Given the description of an element on the screen output the (x, y) to click on. 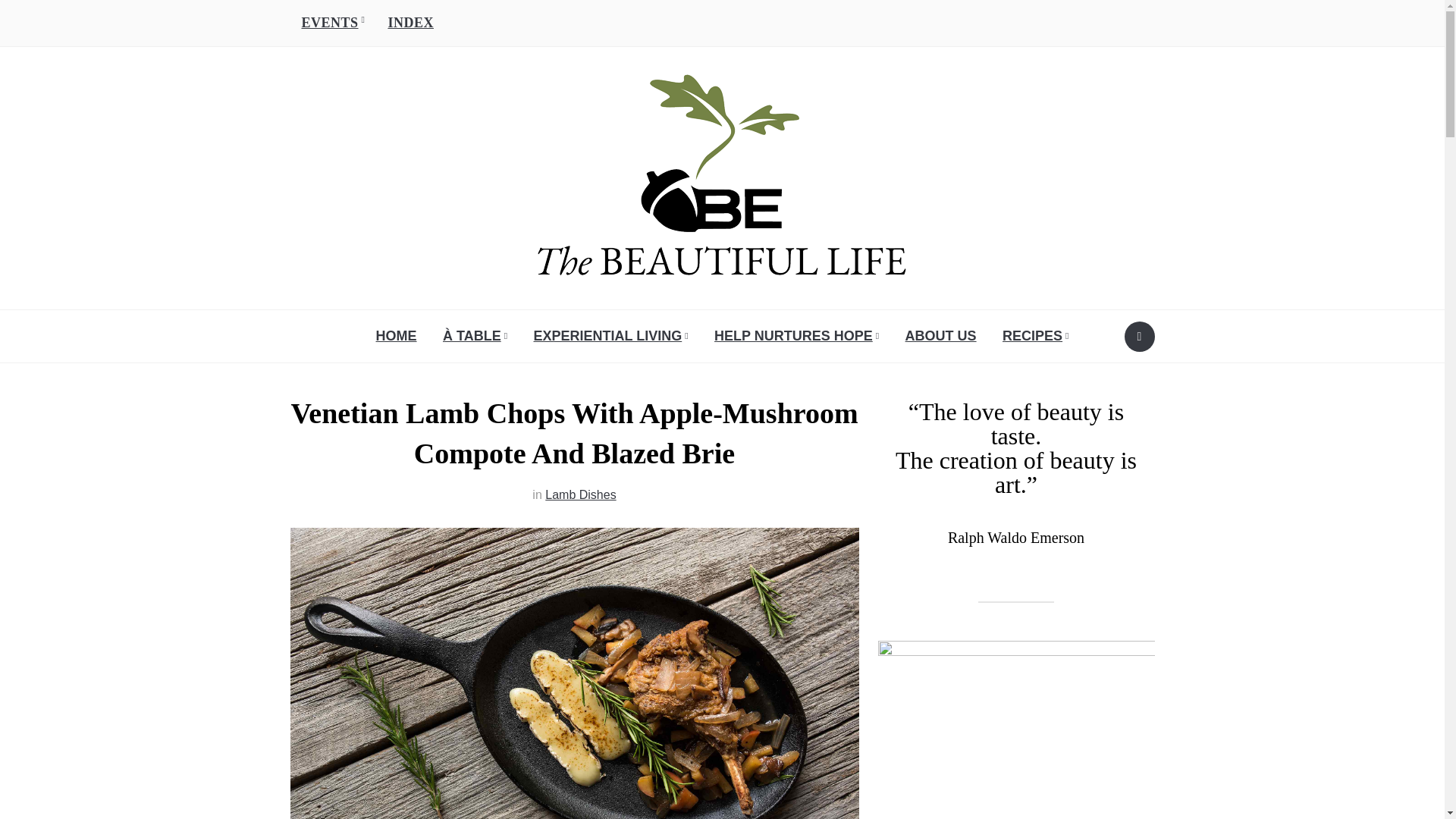
INDEX (410, 22)
EVENTS (332, 22)
